Given the description of an element on the screen output the (x, y) to click on. 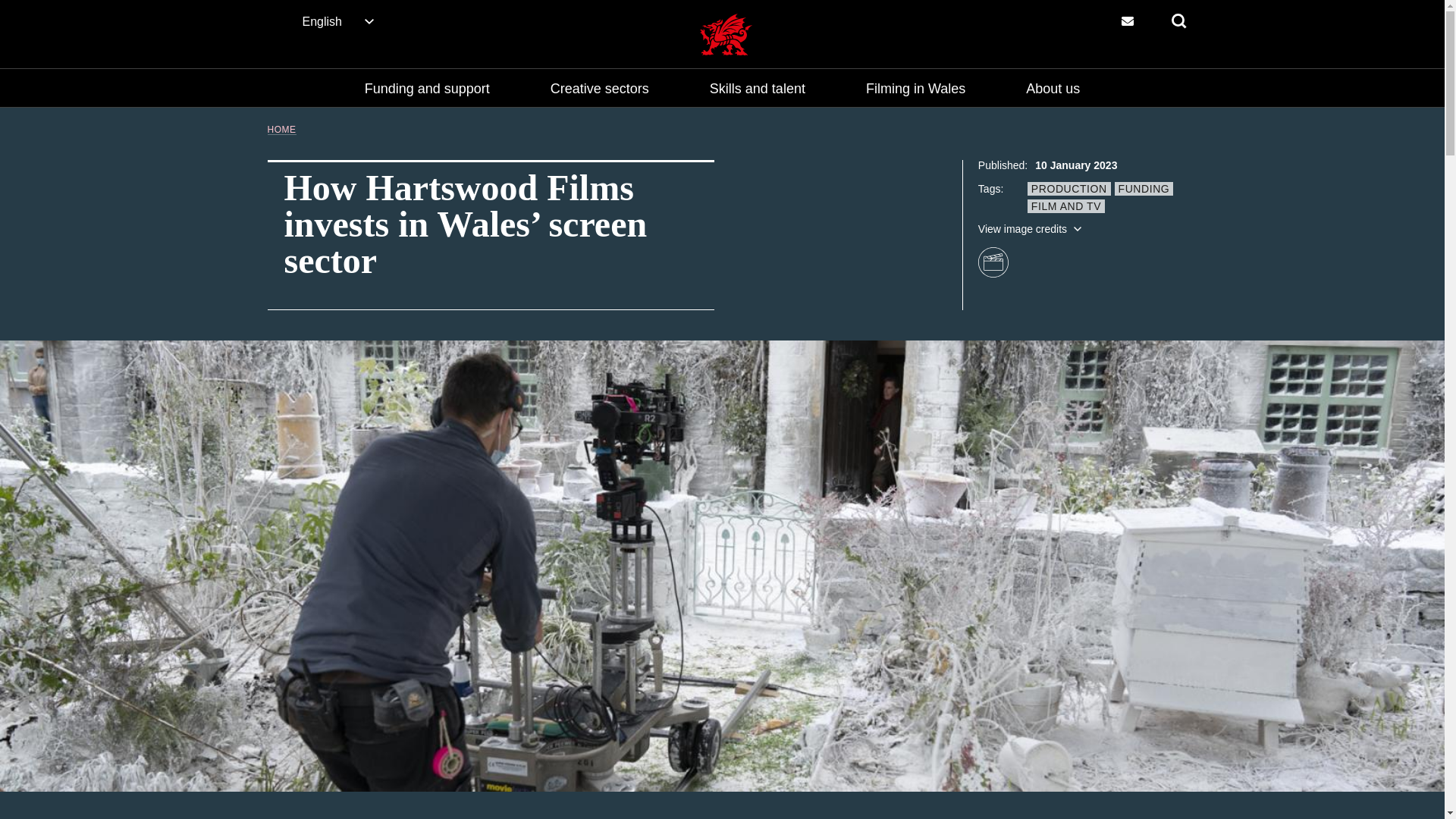
Homepage (725, 34)
View image credits (1031, 227)
Skills and talent (757, 87)
About us (1053, 87)
English (339, 21)
FILM AND TV (1066, 205)
Filming in Wales (915, 87)
HOME (280, 129)
Creative sectors (599, 87)
